Given the description of an element on the screen output the (x, y) to click on. 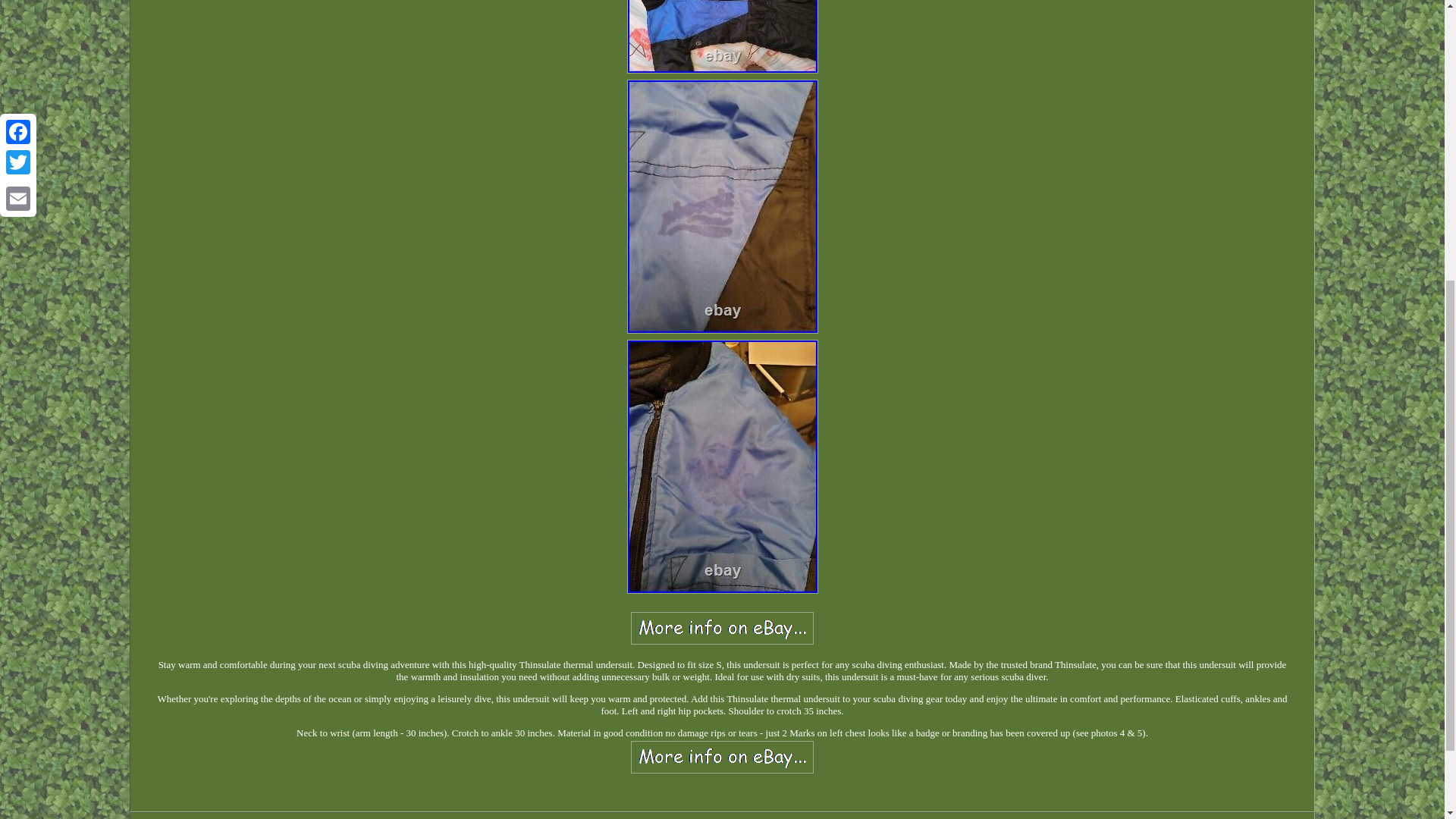
Thinsulate Thermal Undersuit For Scuba Diving (721, 36)
Thinsulate Thermal Undersuit For Scuba Diving (721, 757)
Thinsulate Thermal Undersuit For Scuba Diving (721, 627)
